Given the description of an element on the screen output the (x, y) to click on. 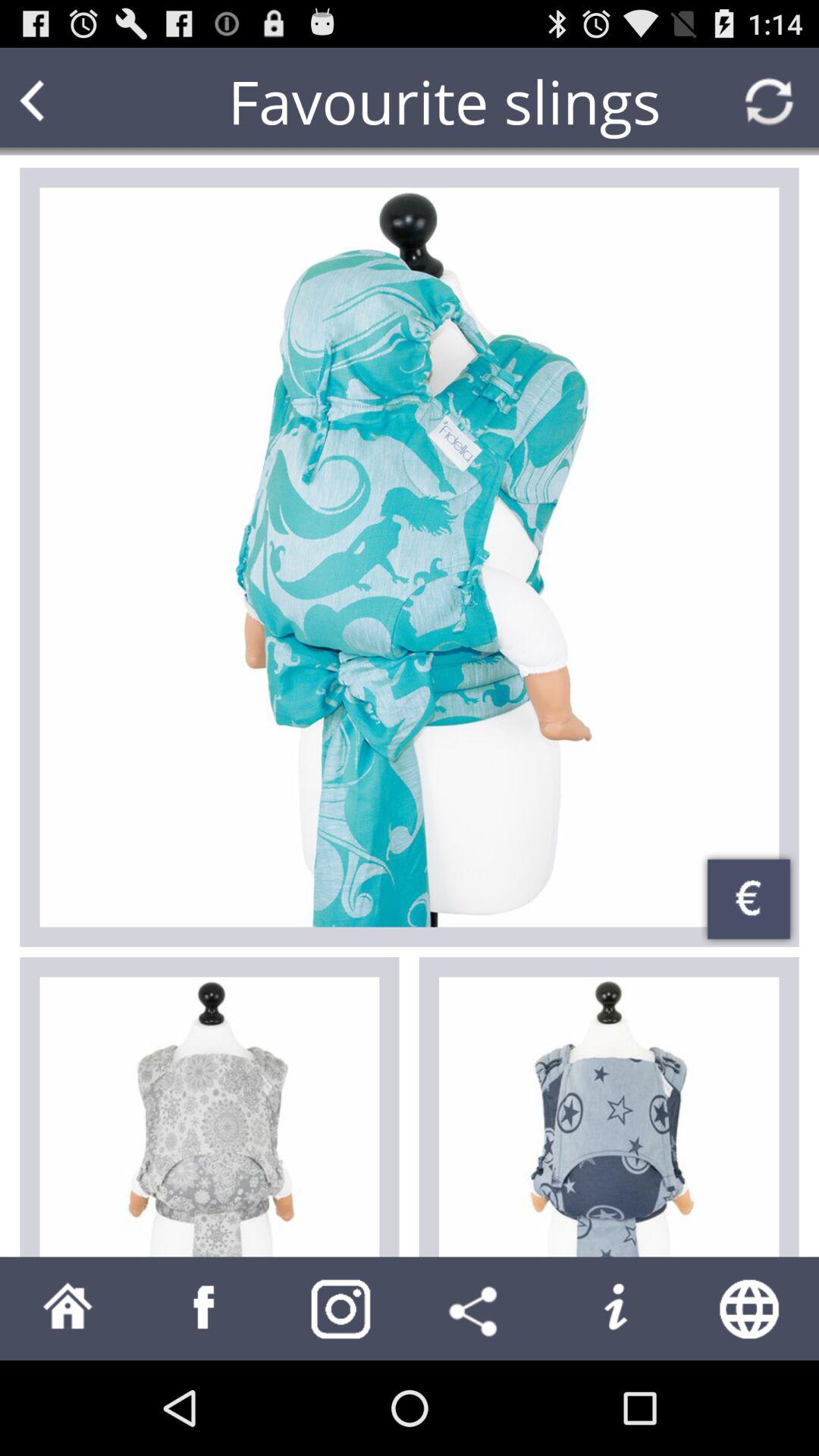
web (750, 1308)
